Given the description of an element on the screen output the (x, y) to click on. 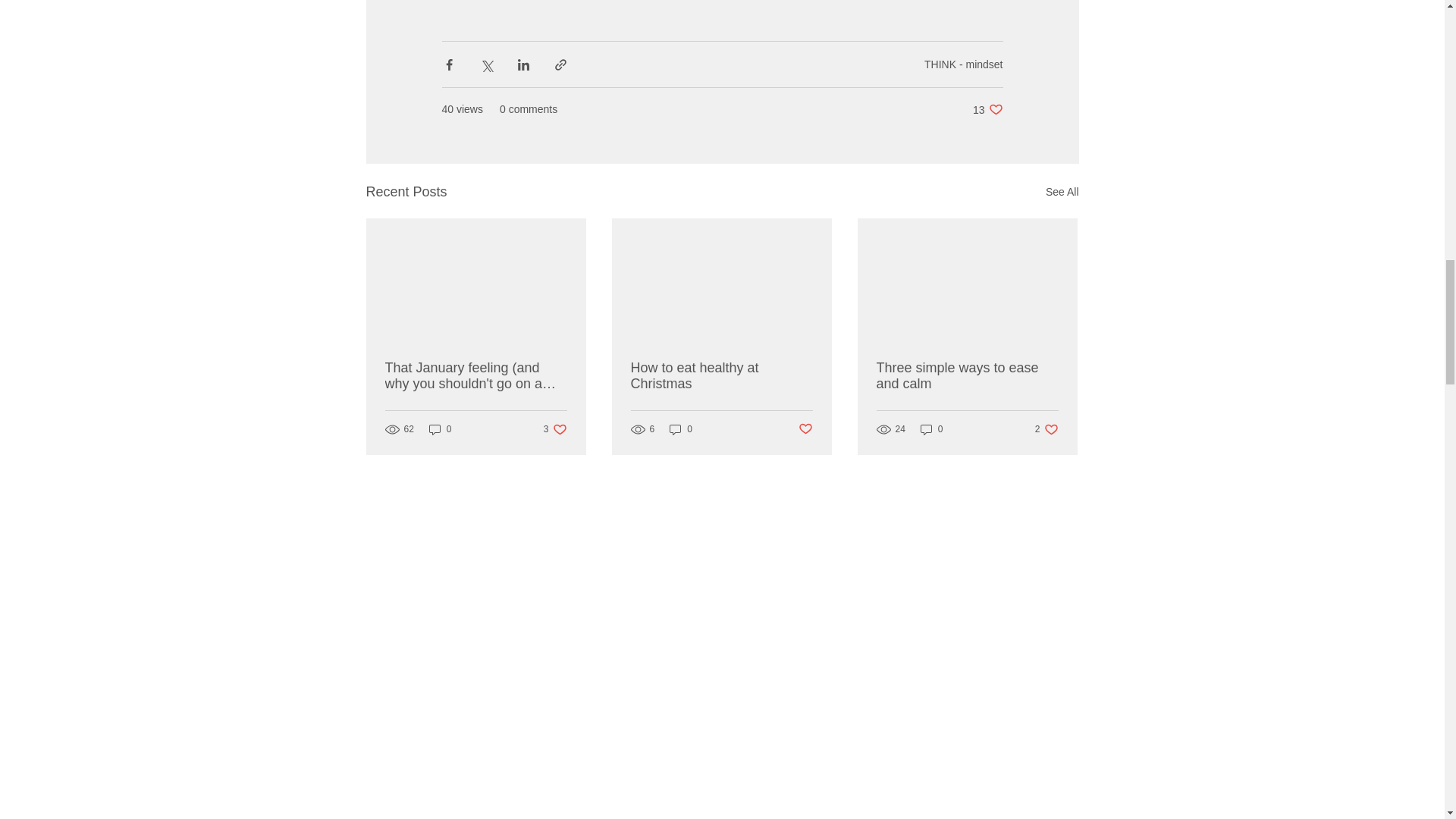
Post not marked as liked (804, 429)
0 (681, 428)
Three simple ways to ease and calm (987, 109)
THINK - mindset (967, 376)
How to eat healthy at Christmas (963, 63)
0 (555, 428)
See All (721, 376)
